Given the description of an element on the screen output the (x, y) to click on. 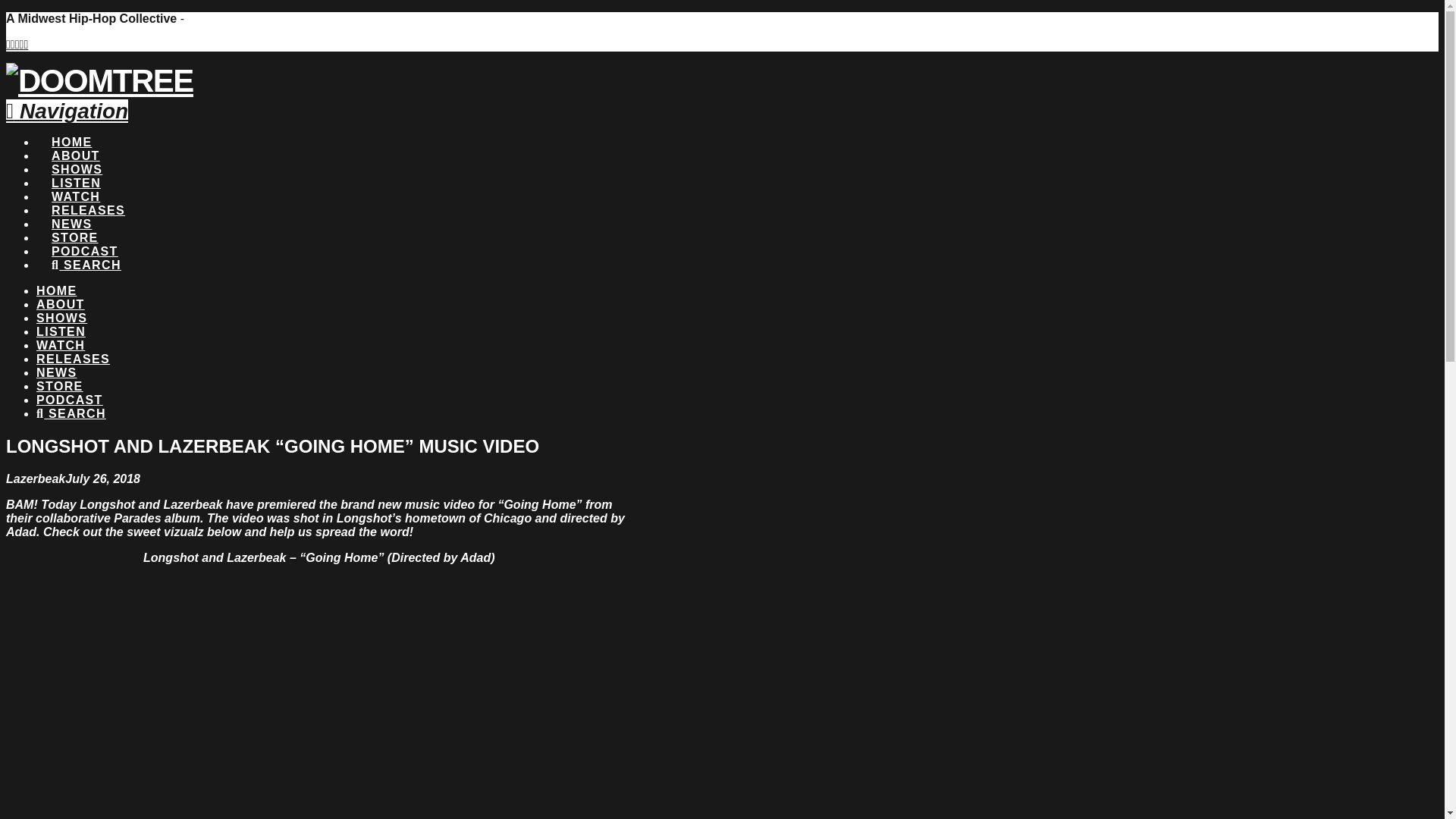
SEARCH (71, 413)
SEARCH (85, 250)
NEWS (71, 209)
ABOUT (74, 141)
LISTEN (75, 168)
RELEASES (73, 358)
PODCAST (84, 237)
HOME (71, 127)
NEWS (56, 372)
ABOUT (60, 304)
SoundCloud (25, 43)
YouTube (17, 43)
SHOWS (61, 318)
Twitter (12, 43)
SHOWS (76, 155)
